Given the description of an element on the screen output the (x, y) to click on. 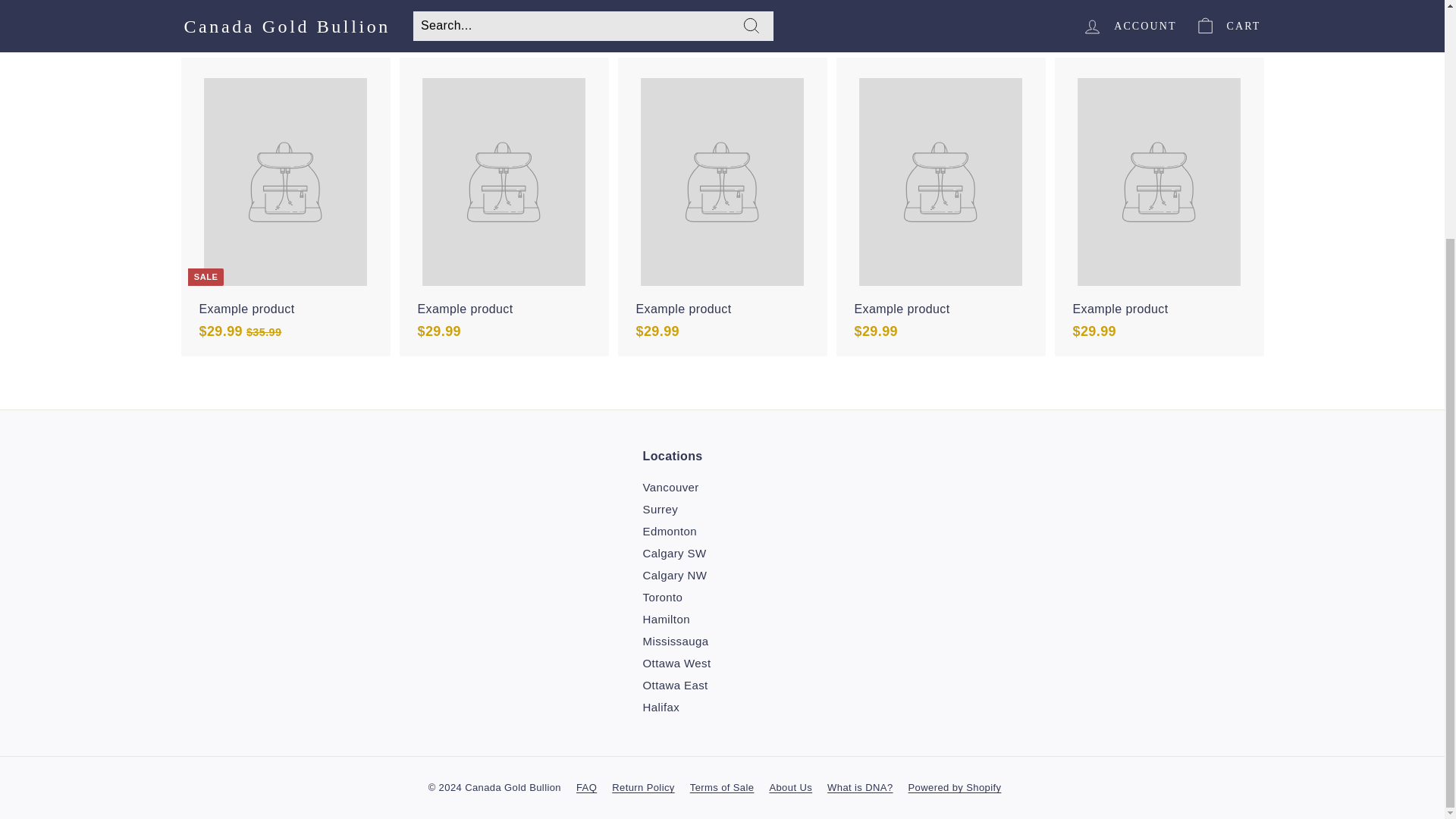
Surrey (660, 508)
Mississauga (676, 640)
Hamilton (666, 618)
Terms of Sale (730, 787)
Toronto (662, 597)
FAQ (593, 787)
Calgary SW (674, 553)
Return Policy (650, 787)
Edmonton (670, 531)
View all (1237, 12)
